Given the description of an element on the screen output the (x, y) to click on. 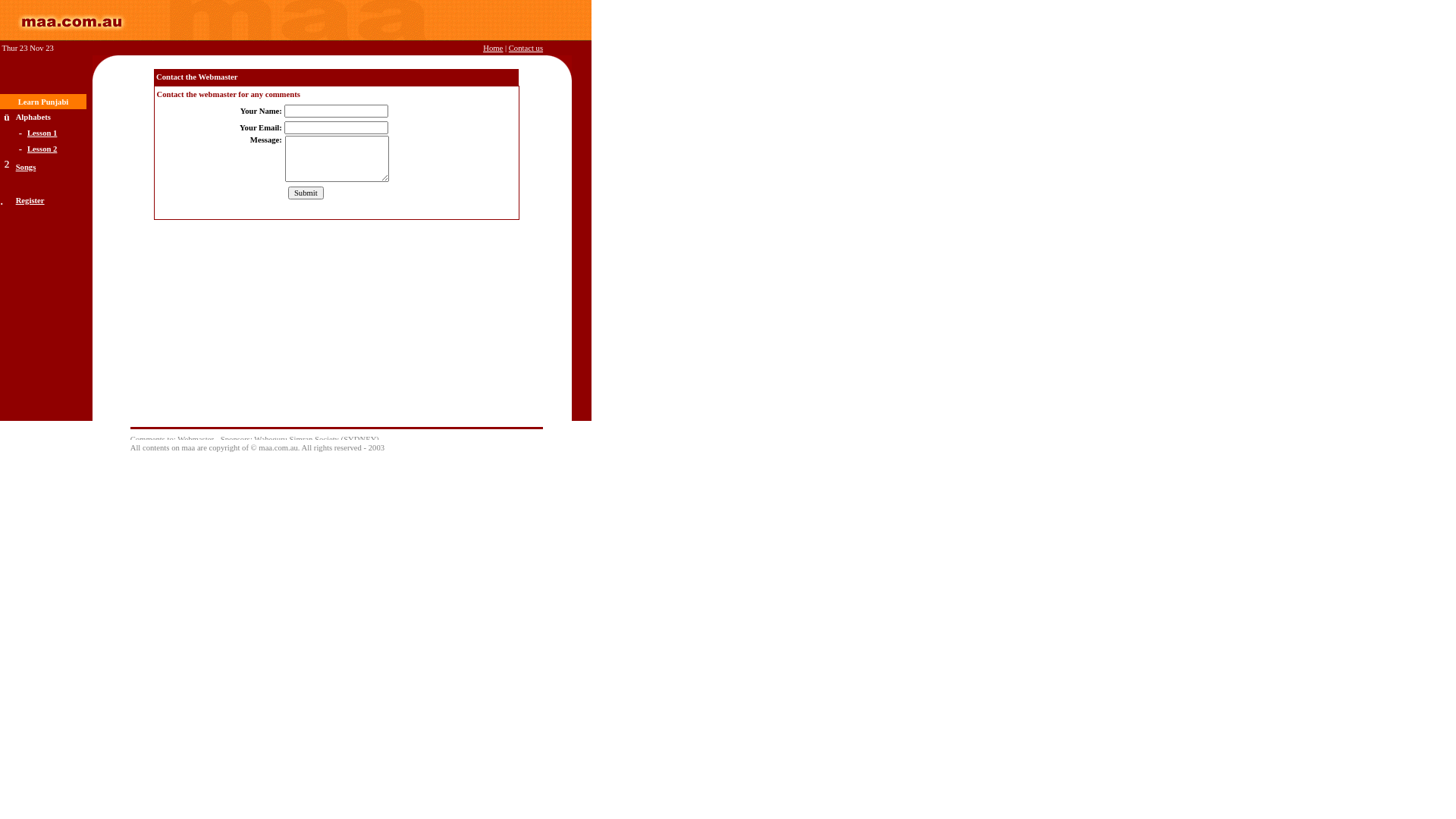
Lesson 2 Element type: text (41, 147)
Home Element type: text (492, 47)
Submit Element type: text (305, 192)
Register Element type: text (29, 200)
Webmaster Element type: text (195, 439)
Contact us Element type: text (525, 47)
Lesson 1 Element type: text (41, 132)
Songs Element type: text (25, 166)
